Given the description of an element on the screen output the (x, y) to click on. 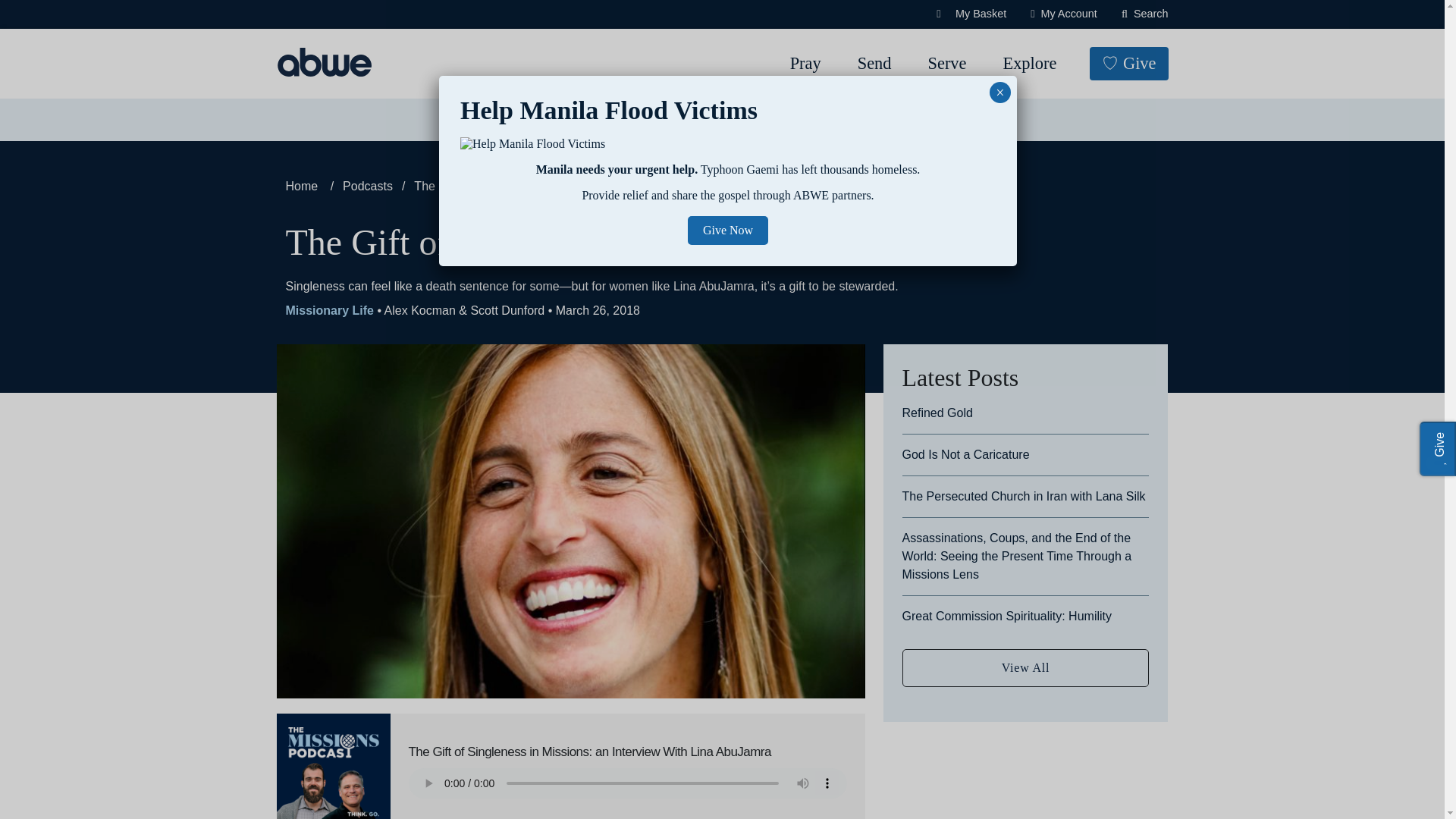
Message Magazine (682, 119)
My Basket (971, 14)
Topics (487, 119)
My Account (1063, 14)
Search (64, 18)
Search (1145, 14)
Articles (567, 119)
Message Magazine (682, 119)
Send (874, 63)
Pray (805, 63)
Topics (487, 119)
Articles (567, 119)
Serve (946, 63)
Explore (1028, 63)
